Given the description of an element on the screen output the (x, y) to click on. 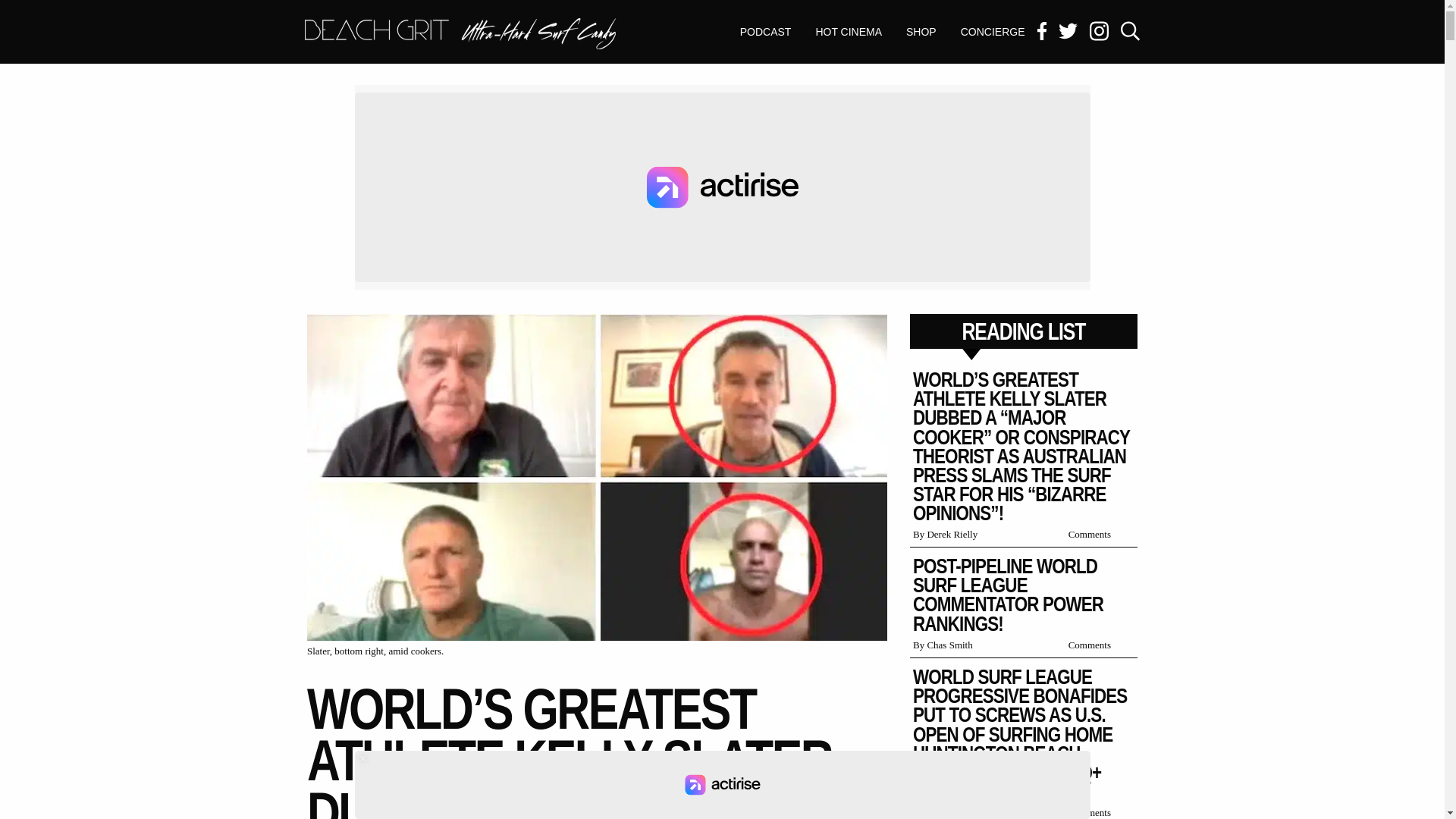
HOT CINEMA (848, 31)
BG-LOGO (459, 33)
PODCAST (459, 34)
SHOP (765, 31)
blank (921, 31)
CONCIERGE (722, 785)
